Given the description of an element on the screen output the (x, y) to click on. 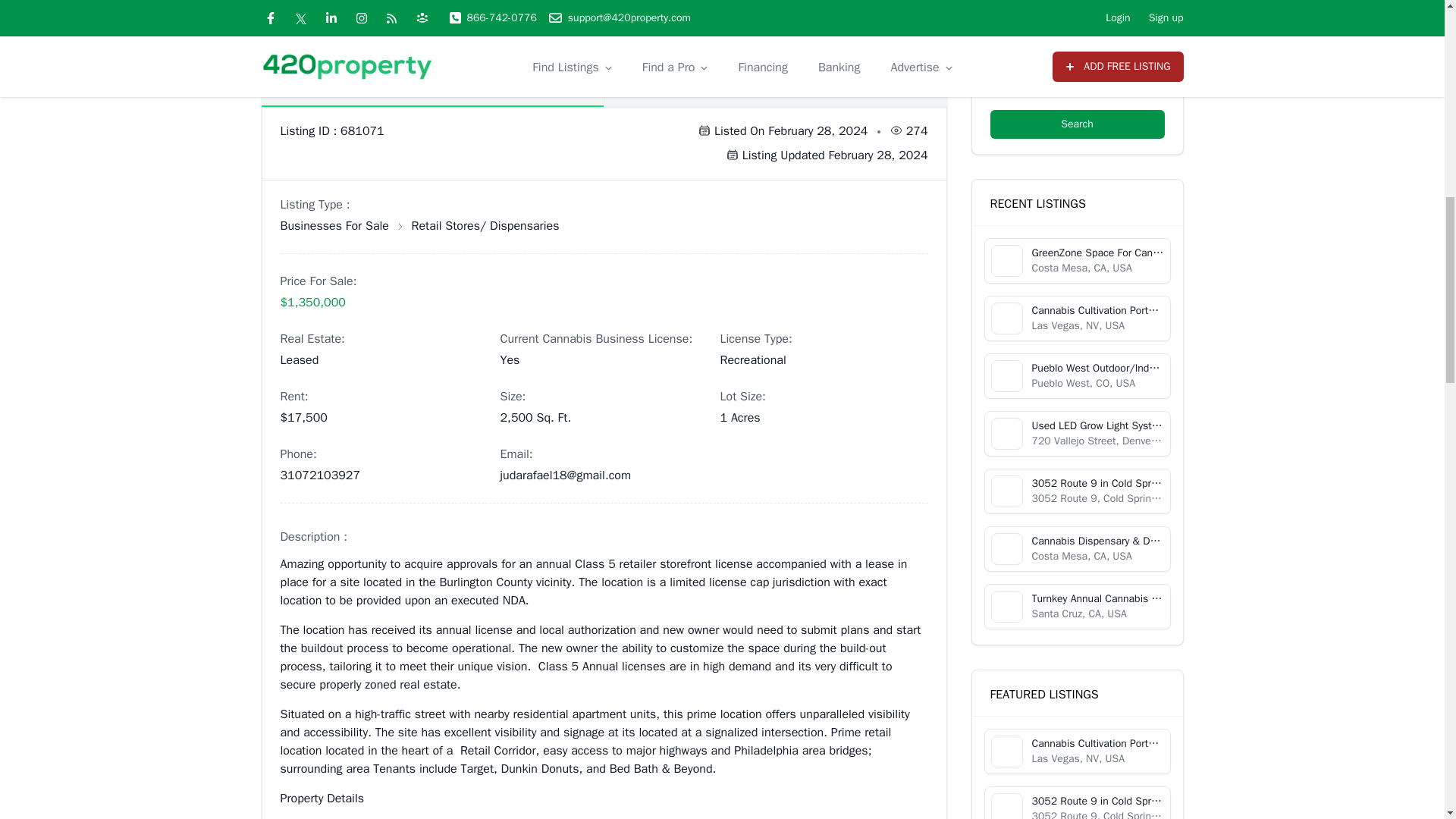
Cannabis Businesses For Sale (334, 225)
